Given the description of an element on the screen output the (x, y) to click on. 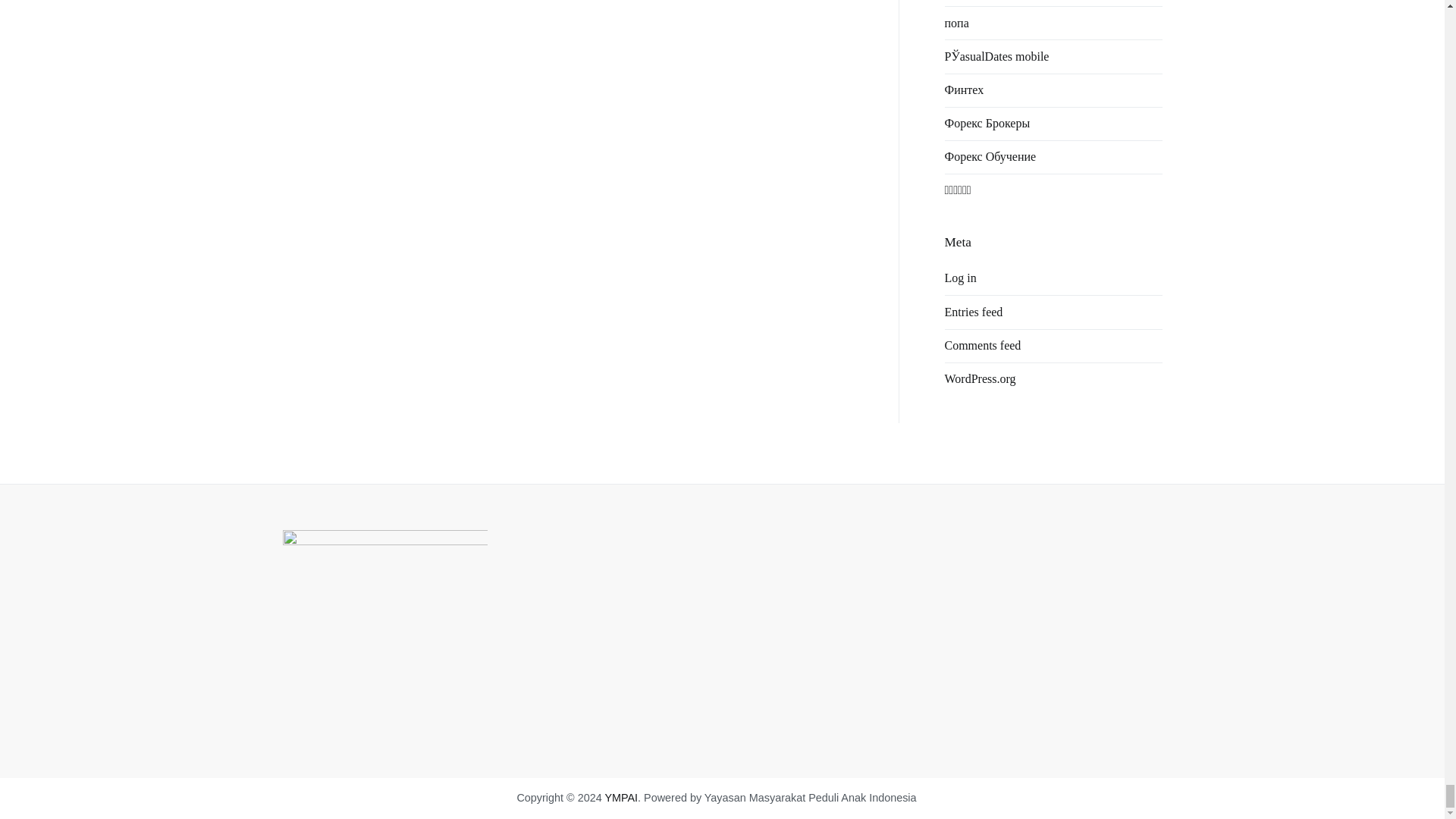
YMPAI (620, 797)
